Given the description of an element on the screen output the (x, y) to click on. 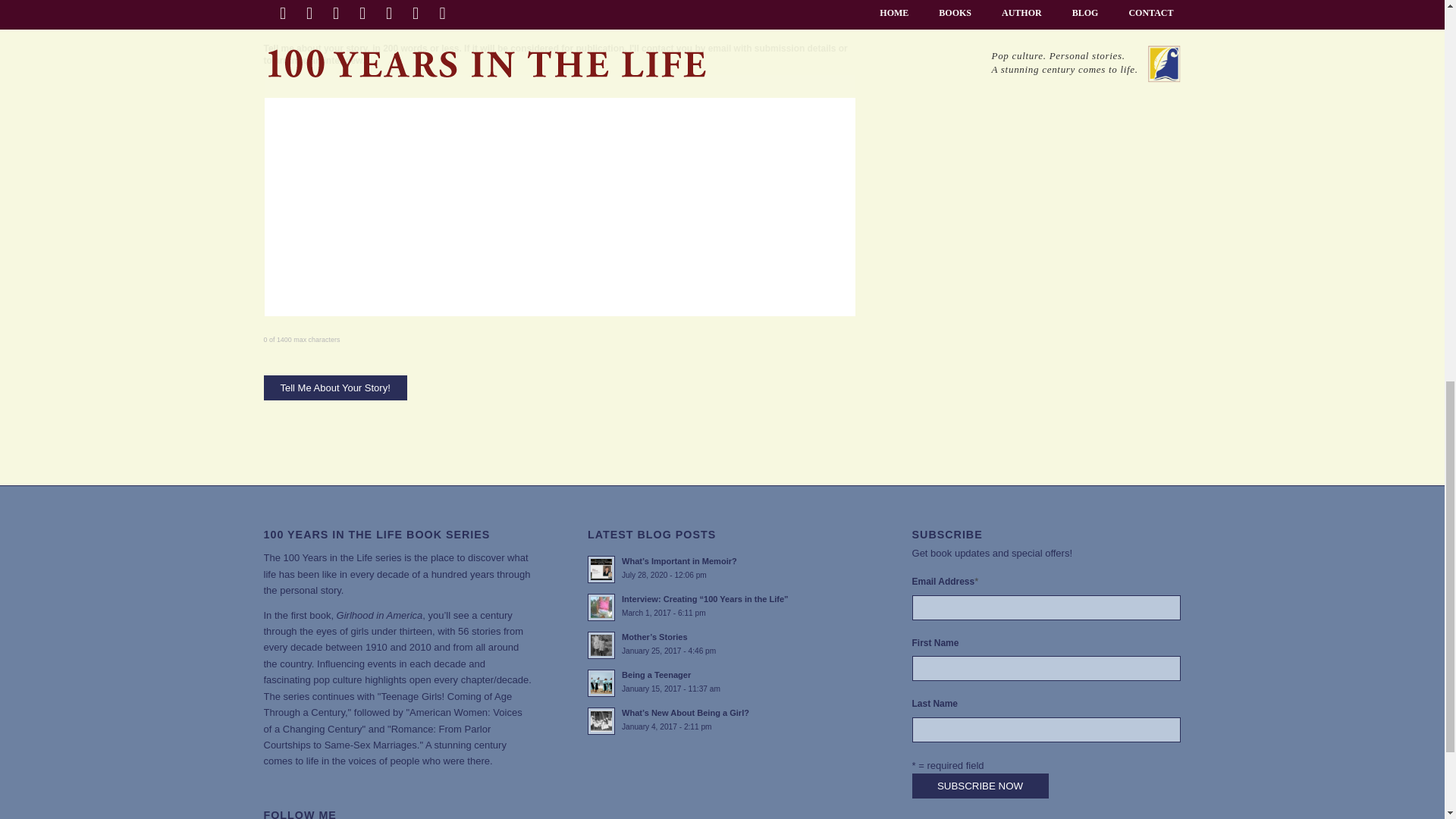
SUBSCRIBE NOW (980, 785)
Ask you to interview me for the story. (268, 17)
Tell Me About Your Story! (335, 387)
Table of Contents (722, 681)
Tell Me About Your Story! (480, 679)
SUBSCRIBE NOW (335, 387)
